Given the description of an element on the screen output the (x, y) to click on. 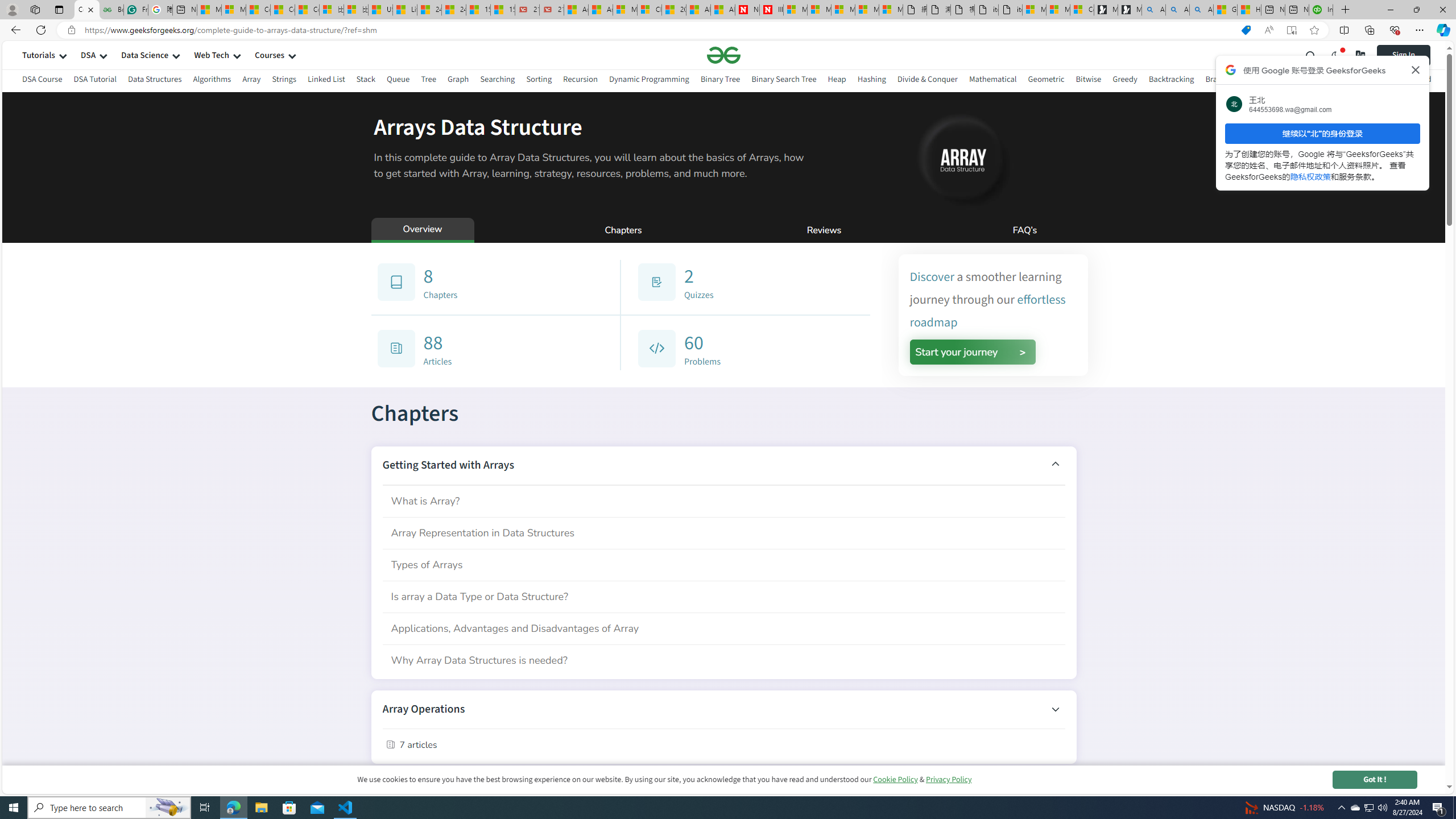
Array (250, 79)
toggle theme (1335, 54)
Linked List (325, 79)
Sign In (1411, 54)
Lifestyle - MSN (404, 9)
Divide & Conquer (927, 79)
Algorithms (212, 80)
Binary Tree (719, 79)
Complete Guide to Arrays Data Structure - GeeksforGeeks (86, 9)
20 Ways to Boost Your Protein Intake at Every Meal (673, 9)
Queue (398, 80)
Types of Arrays (723, 564)
